Given the description of an element on the screen output the (x, y) to click on. 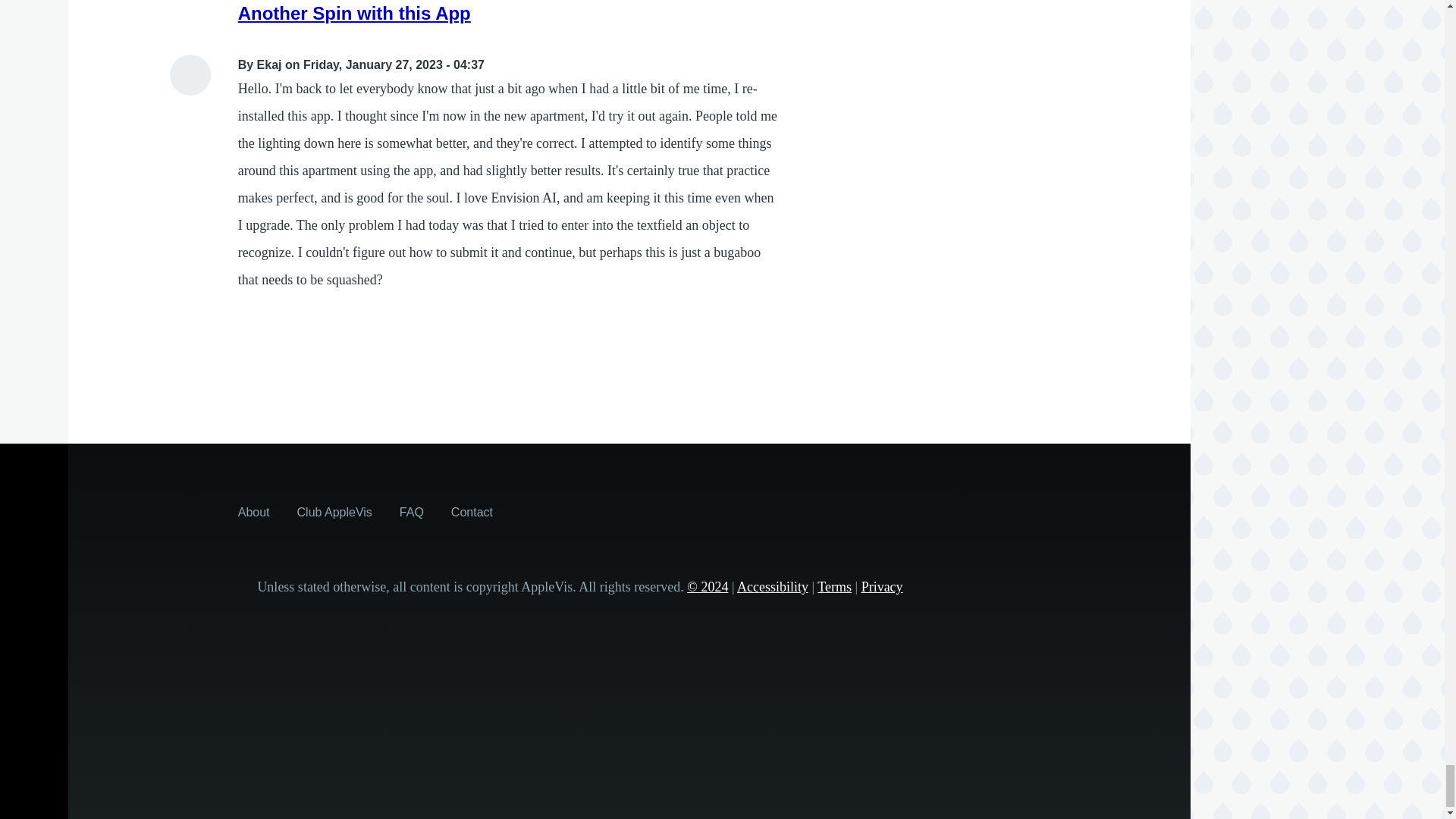
About (253, 511)
Answers to some frequently asked questions about AppleVis (410, 511)
